Given the description of an element on the screen output the (x, y) to click on. 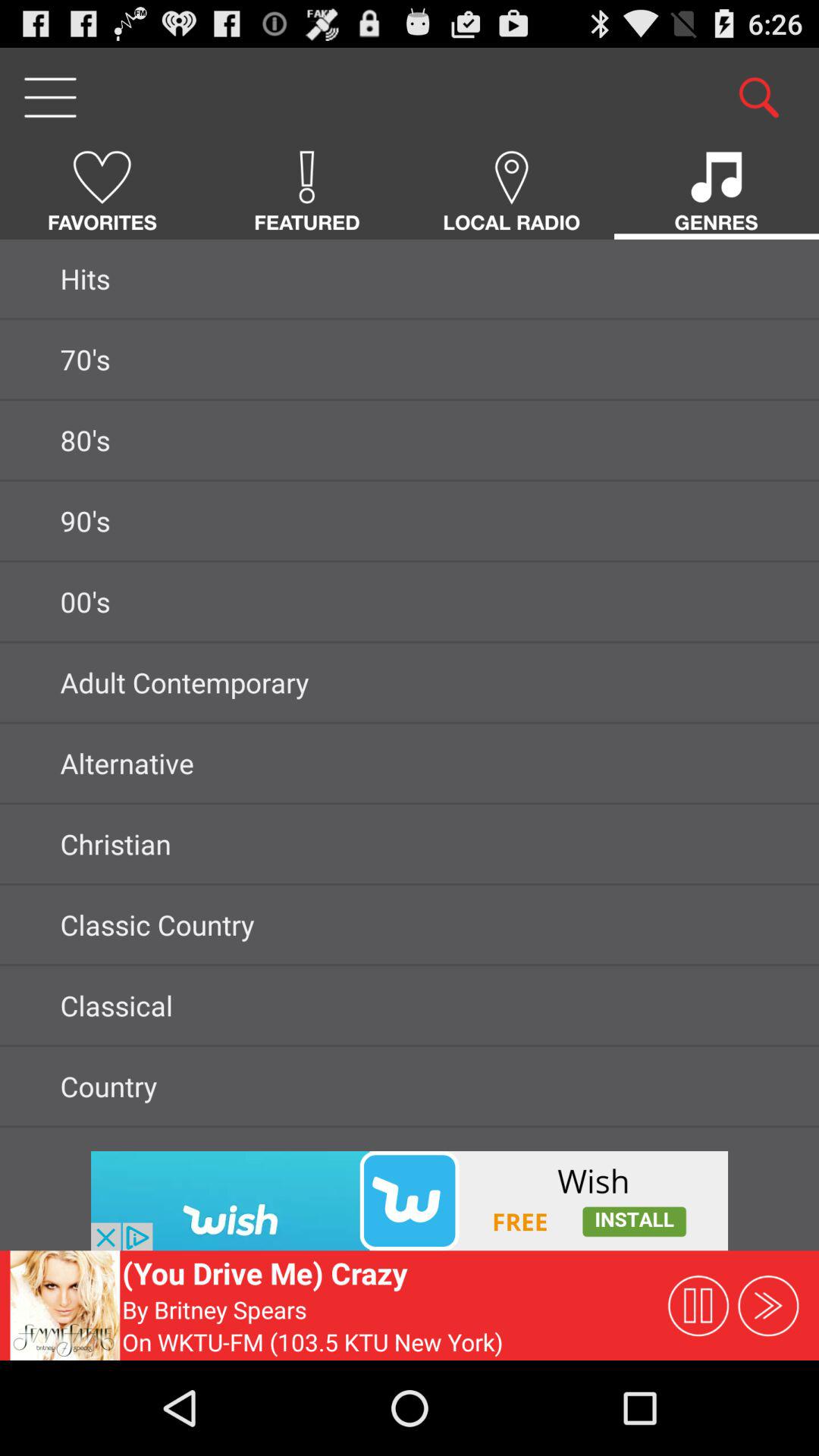
advertisements are displayed (409, 1200)
